Given the description of an element on the screen output the (x, y) to click on. 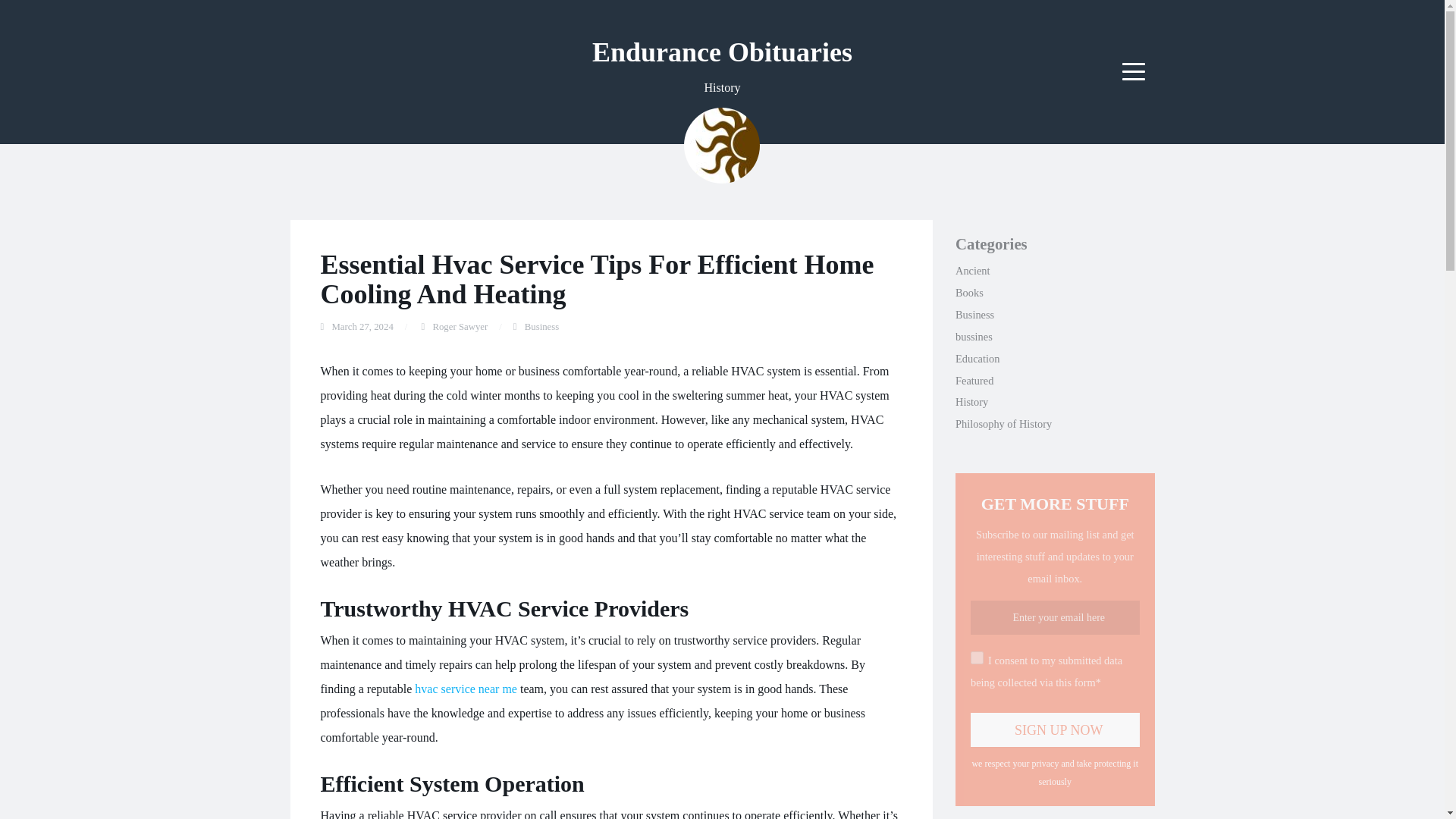
Menu (1133, 71)
History (971, 401)
hvac service near me (465, 688)
Featured (973, 380)
on (977, 657)
Sign Up Now (1055, 729)
Roger Sawyer (459, 326)
Books (969, 292)
Endurance Obituaries (721, 51)
Education (976, 358)
Ancient (972, 270)
Business (541, 326)
Sign Up Now (1055, 729)
bussines (973, 336)
Philosophy of History (1003, 423)
